Given the description of an element on the screen output the (x, y) to click on. 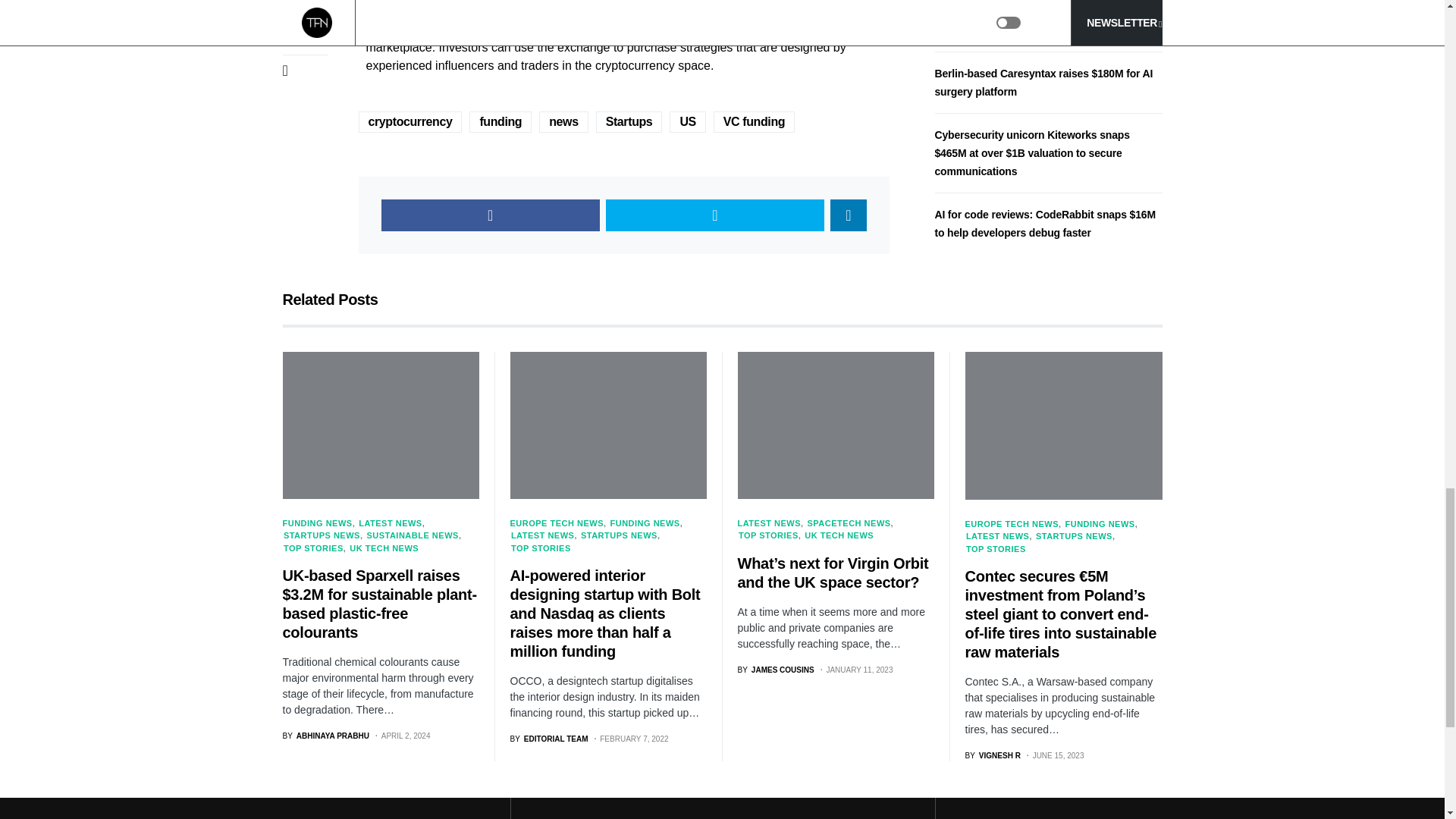
View all posts by Abhinaya Prabhu (325, 736)
View all posts by Vignesh R (991, 755)
View all posts by James Cousins (774, 669)
View all posts by Editorial Team (548, 738)
